Given the description of an element on the screen output the (x, y) to click on. 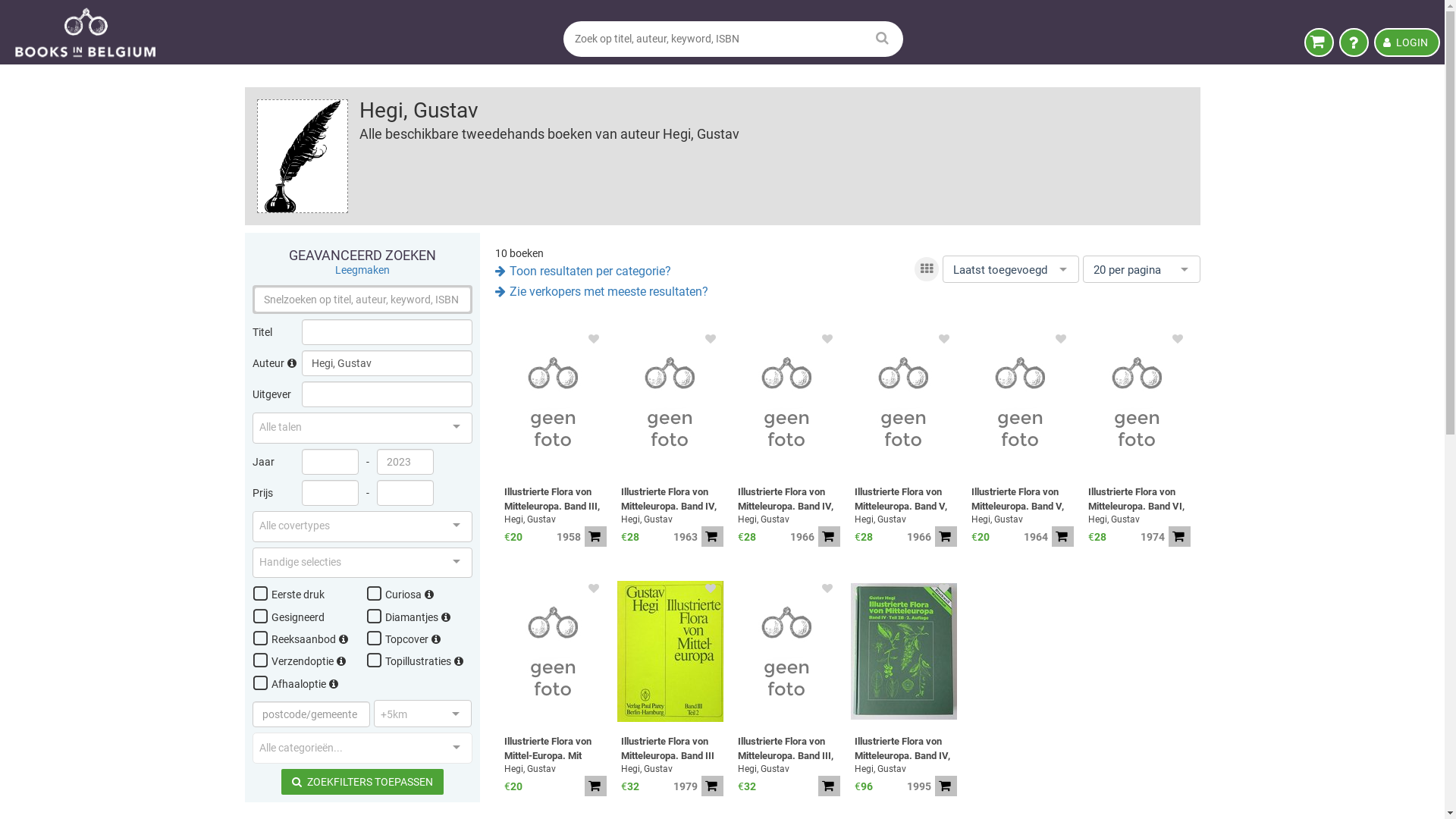
Hegi, Gustav Element type: text (554, 519)
Hegi, Gustav Element type: text (1021, 519)
Hegi, Gustav Element type: text (1138, 519)
Hegi, Gustav Element type: text (788, 768)
Toon resultaten per categorie? Element type: text (582, 270)
Homepage logo Books in Belgium Element type: hover (86, 31)
Hegi, Gustav Element type: text (904, 768)
ZOEKFILTERS TOEPASSEN Element type: text (361, 781)
Hegi, Gustav Element type: text (788, 519)
Vraagteken Element type: hover (1353, 42)
Zie verkopers met meeste resultaten? Element type: text (600, 291)
Winkelmandje Element type: hover (1318, 42)
Hegi, Gustav Element type: text (904, 519)
LOGIN Element type: text (1407, 42)
Leegmaken Element type: text (362, 269)
Hegi, Gustav Element type: text (671, 519)
Hegi, Gustav Element type: text (554, 768)
Hegi, Gustav Element type: text (671, 768)
